Given the description of an element on the screen output the (x, y) to click on. 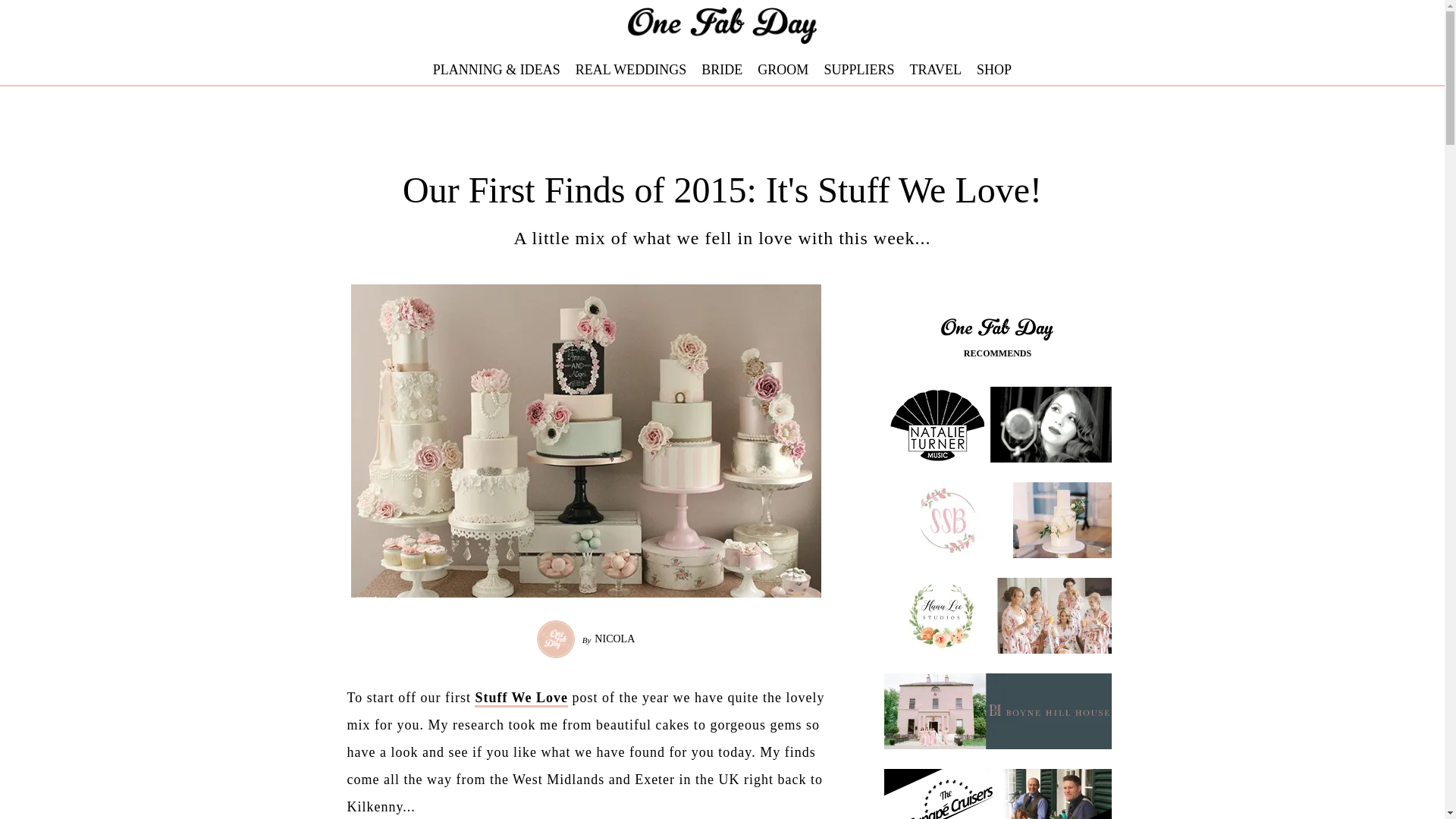
REAL WEDDINGS (630, 70)
Stuff We Love - One Fab Day (520, 698)
